Given the description of an element on the screen output the (x, y) to click on. 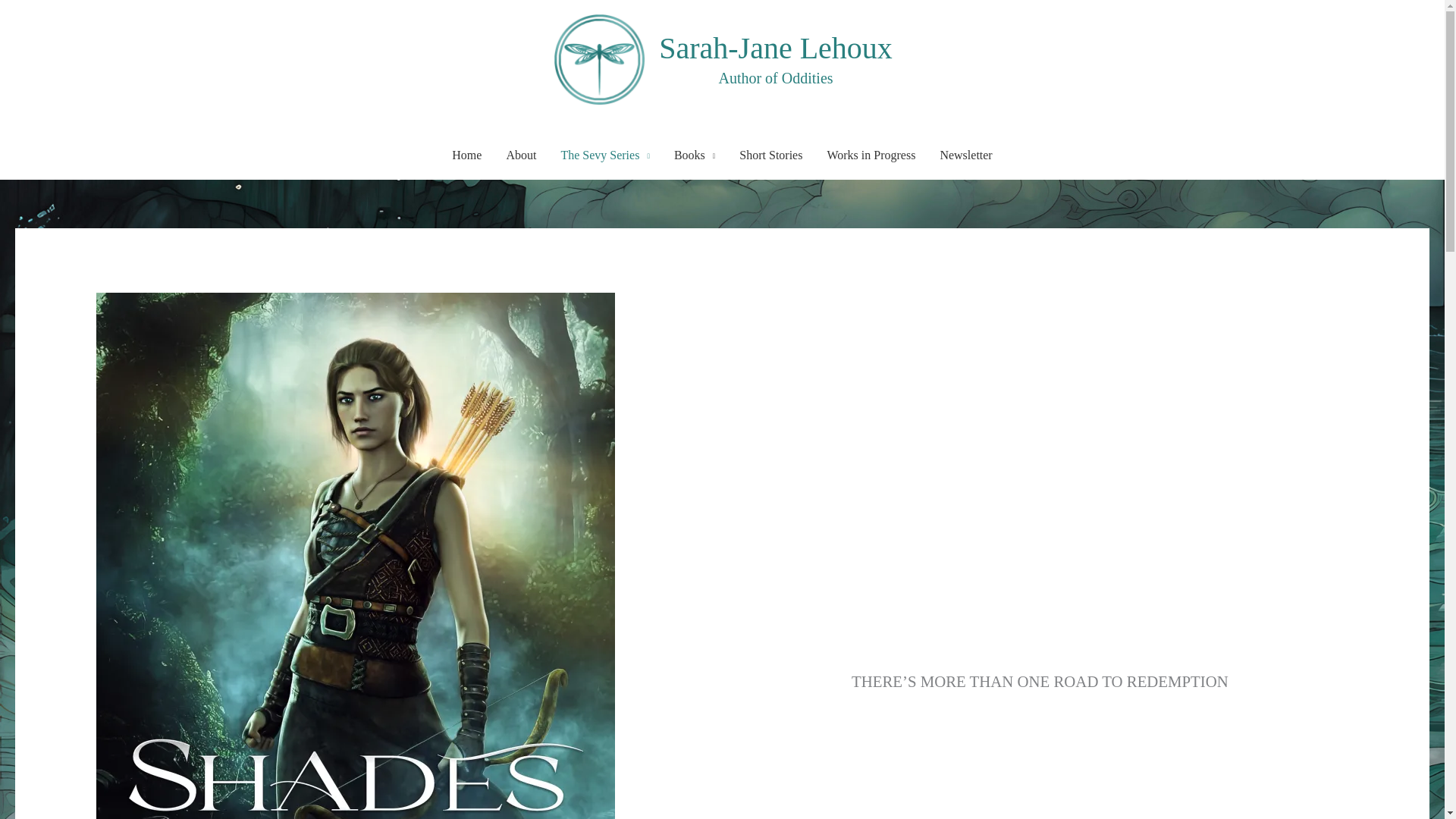
Sarah-Jane Lehoux (775, 47)
The Sevy Series (605, 155)
About (520, 155)
Newsletter (965, 155)
Home (466, 155)
Books (694, 155)
Works in Progress (870, 155)
Short Stories (769, 155)
